Given the description of an element on the screen output the (x, y) to click on. 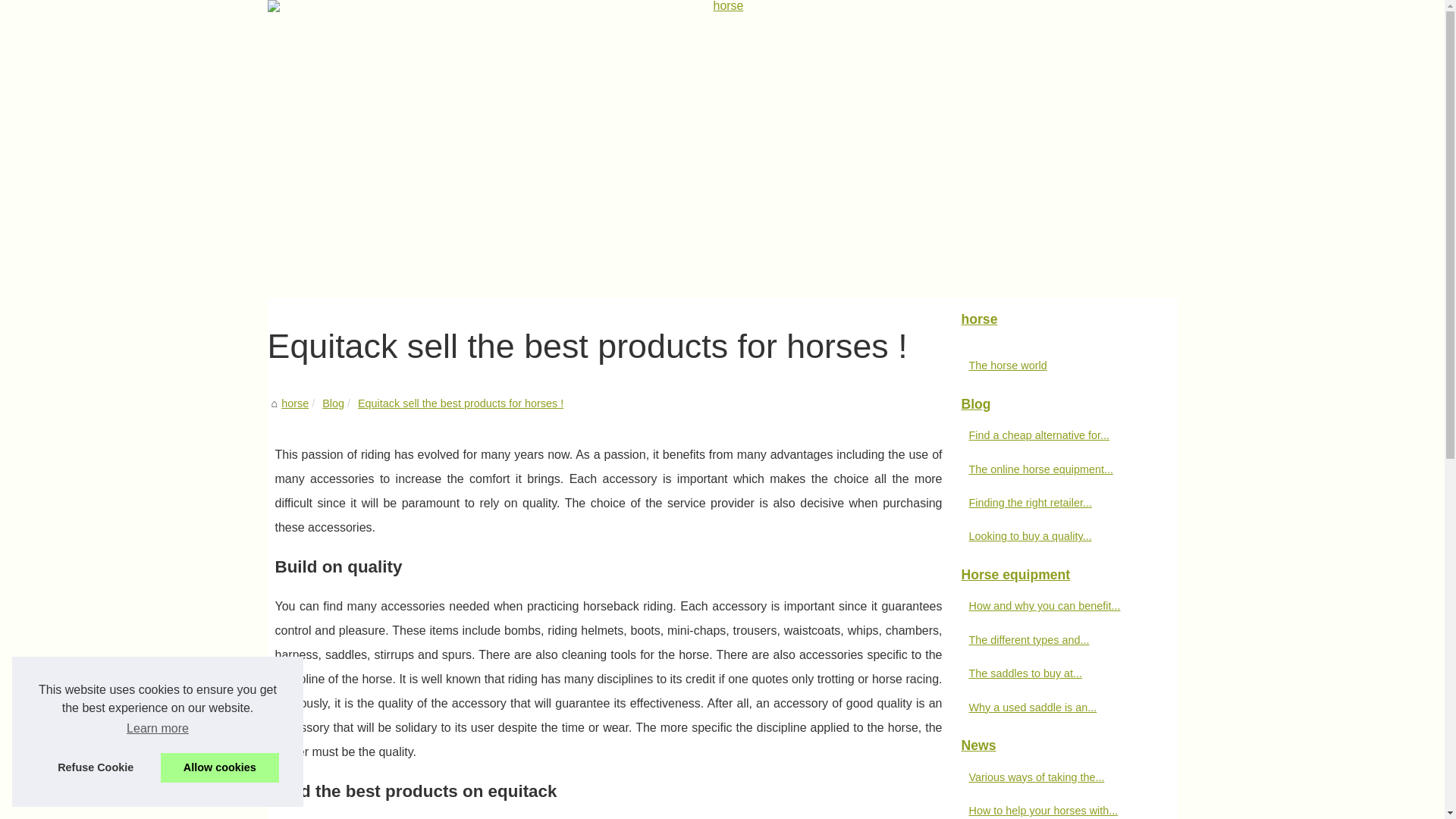
horse (294, 403)
Equitack sell the best products for horses ! (460, 403)
Learn more (156, 728)
The saddles to buy at... (1055, 673)
Allow cookies (219, 767)
The horse world (1055, 365)
horse (1062, 319)
Blog (332, 403)
How and why you can benefit... (1055, 606)
Blog (1062, 404)
Find a cheap alternative for... (1055, 434)
horse (1062, 319)
Finding the right retailer... (1055, 502)
Blog (332, 403)
News (1062, 746)
